Given the description of an element on the screen output the (x, y) to click on. 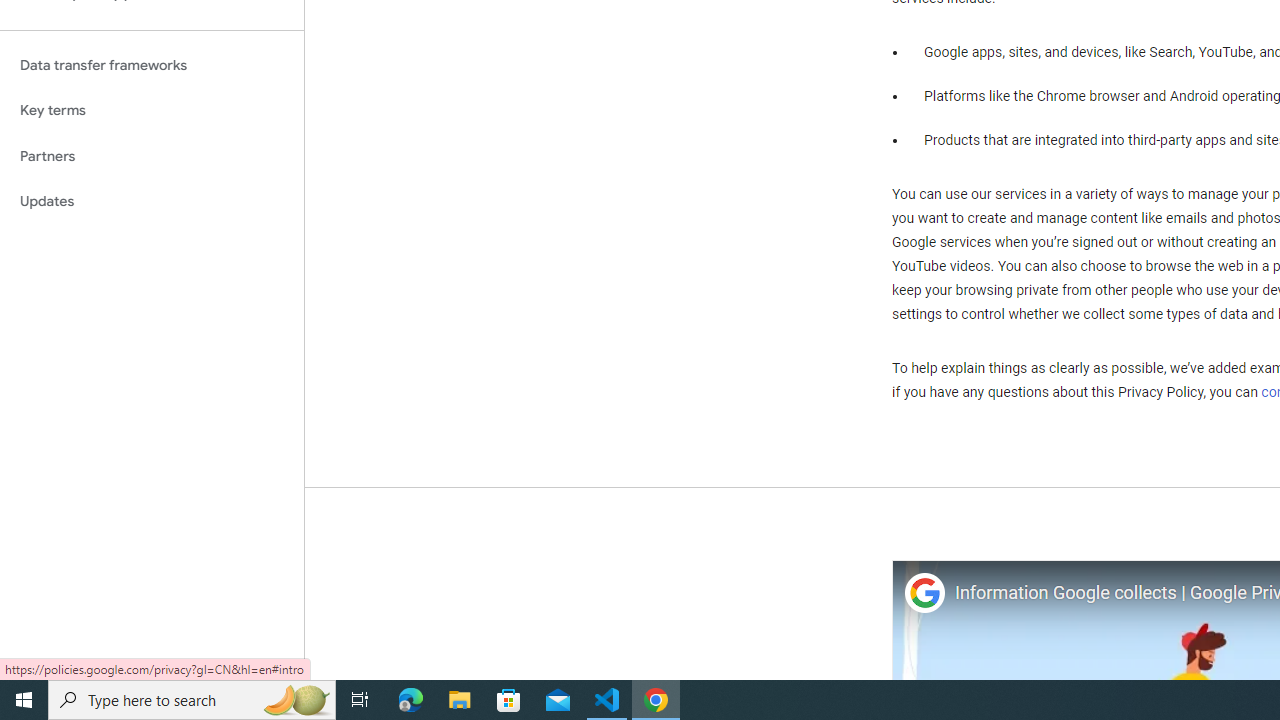
Photo image of Google (924, 593)
